Given the description of an element on the screen output the (x, y) to click on. 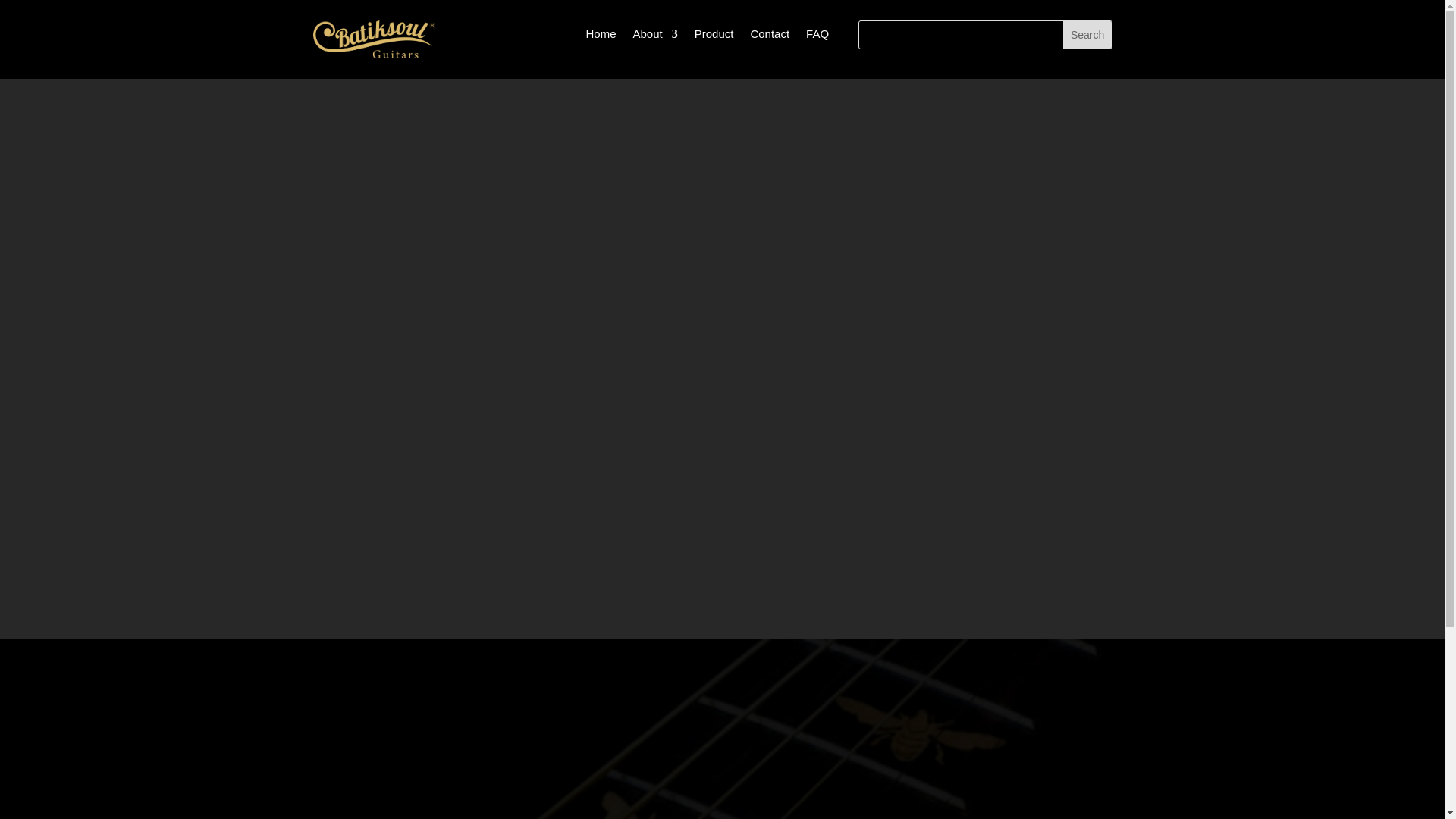
Search (1087, 34)
Contact (769, 36)
Search (1087, 34)
Search (1087, 34)
About (654, 36)
batikguitar-logo (374, 39)
Product (713, 36)
FAQ (817, 36)
Home (600, 36)
